Given the description of an element on the screen output the (x, y) to click on. 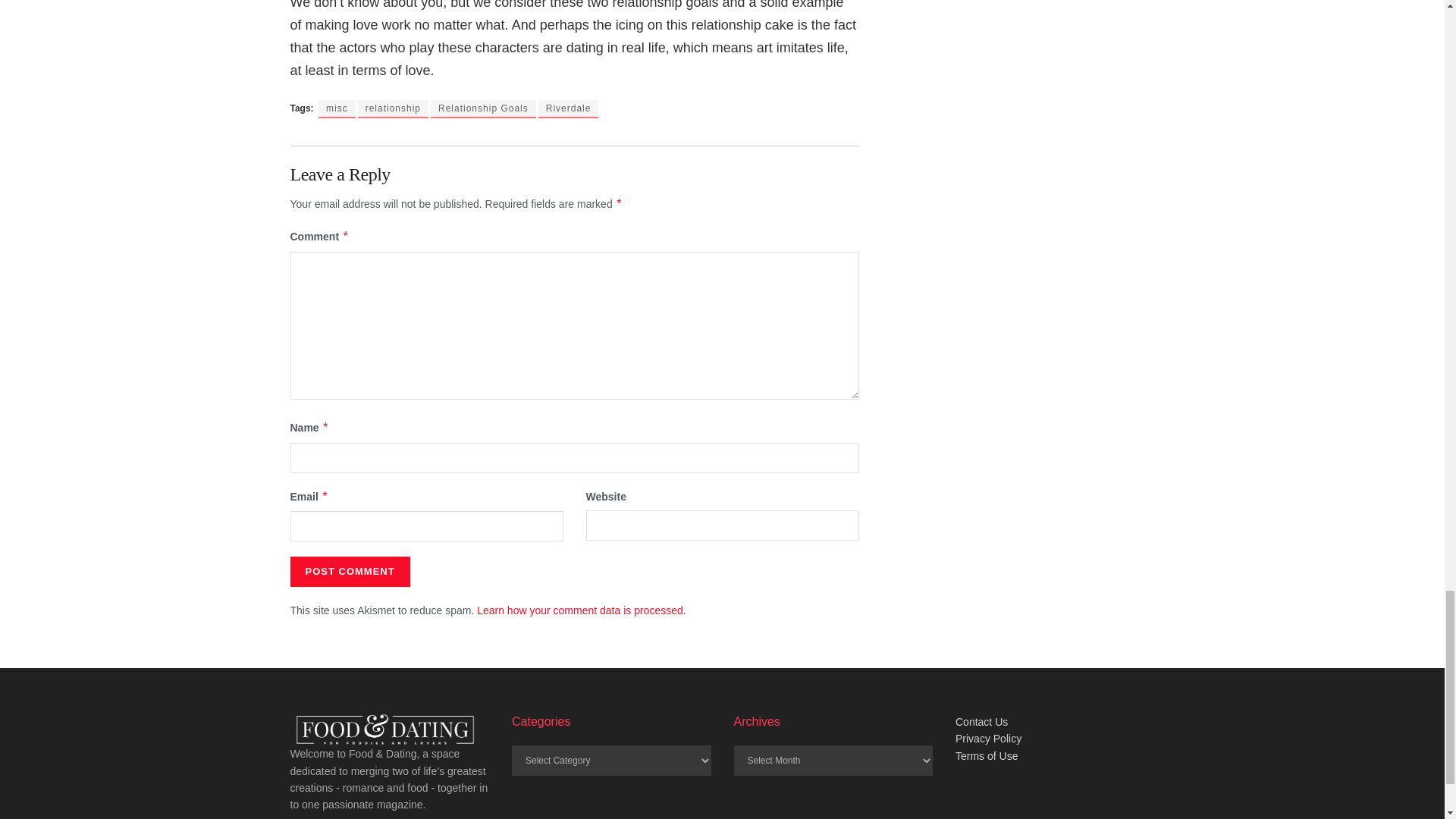
Relationship Goals (482, 108)
Post Comment (349, 571)
relationship (393, 108)
Riverdale (568, 108)
misc (336, 108)
